Given the description of an element on the screen output the (x, y) to click on. 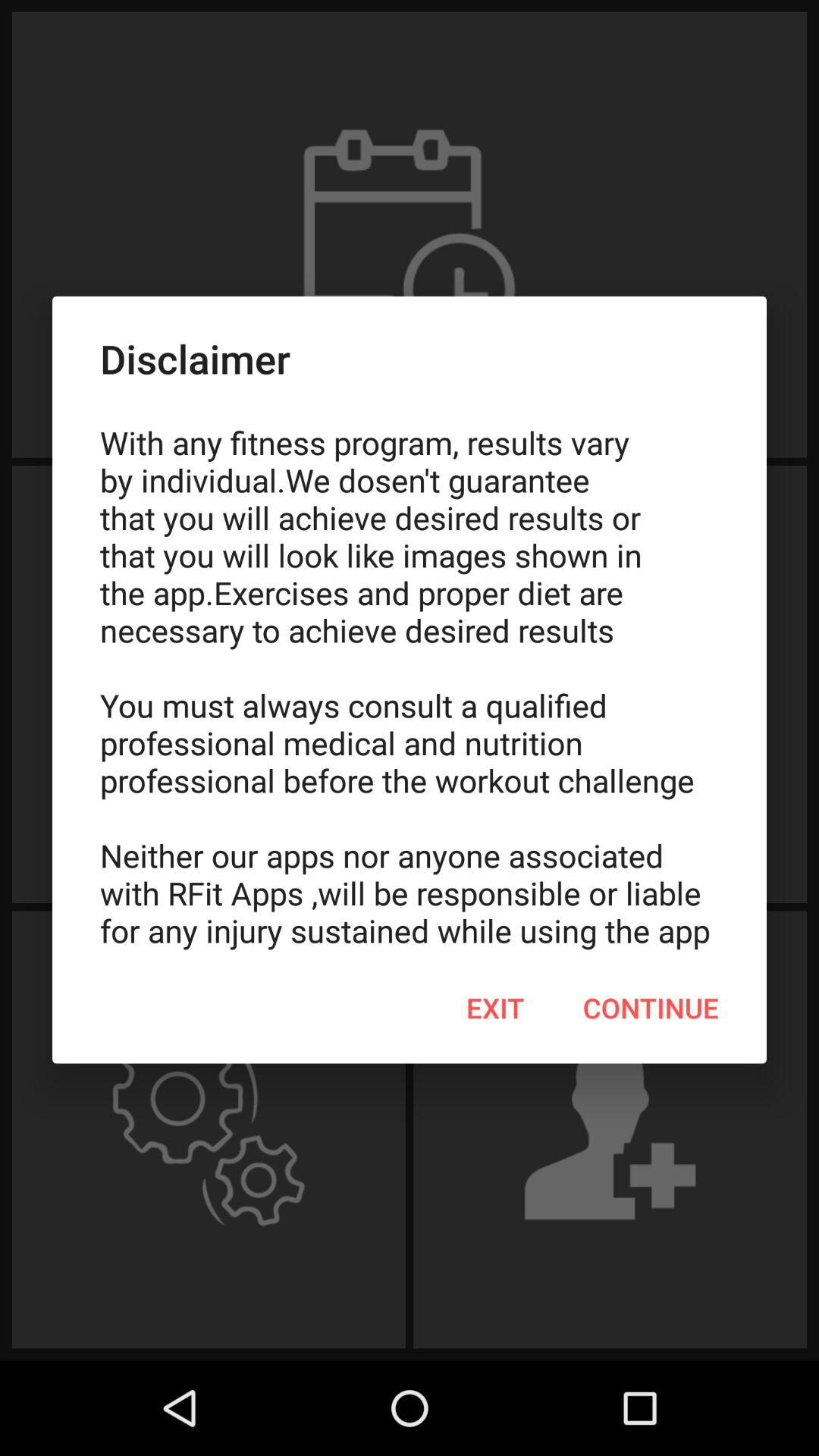
tap the item at the bottom right corner (650, 1007)
